Given the description of an element on the screen output the (x, y) to click on. 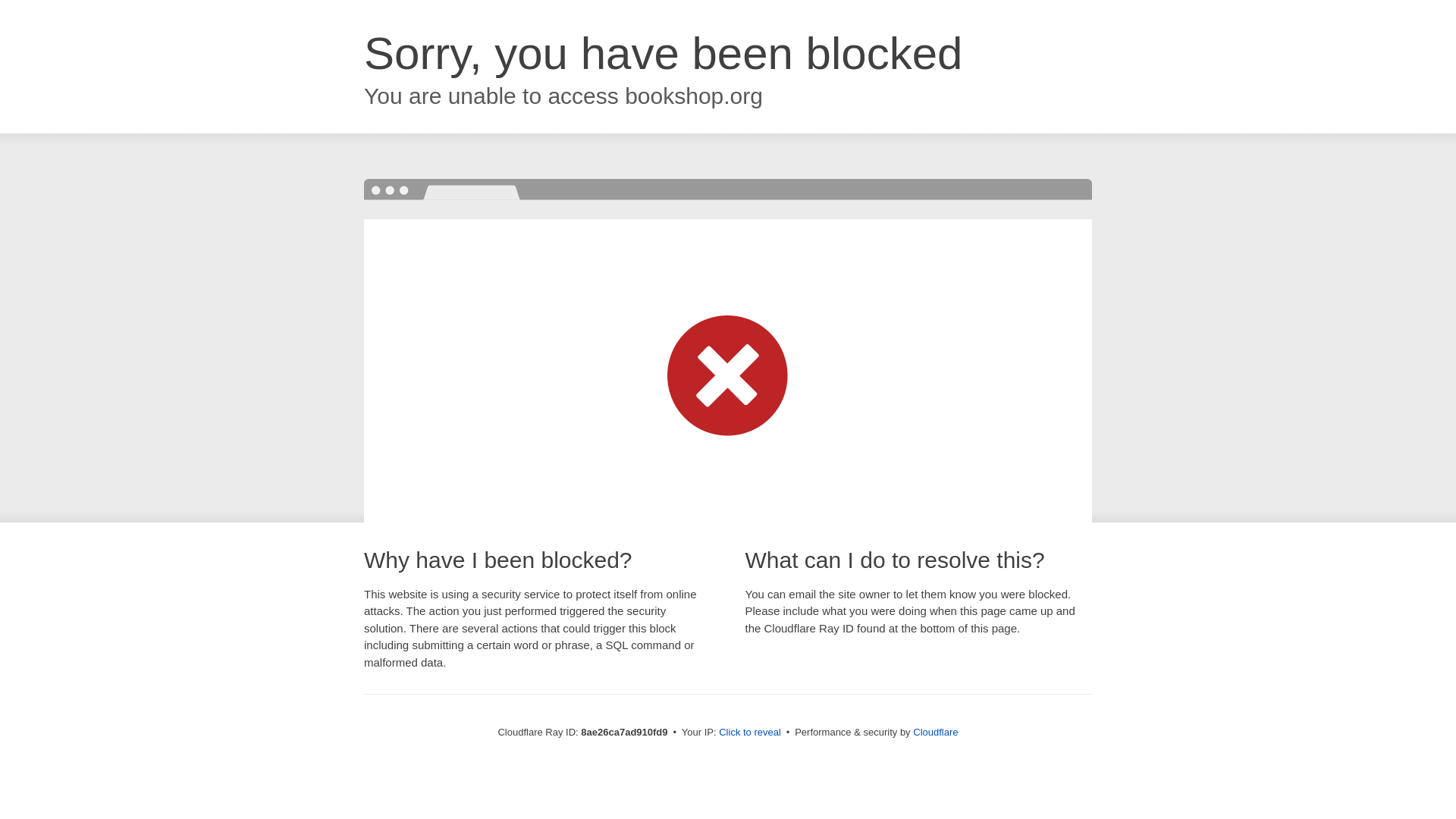
Click to reveal (749, 732)
Cloudflare (935, 731)
